Given the description of an element on the screen output the (x, y) to click on. 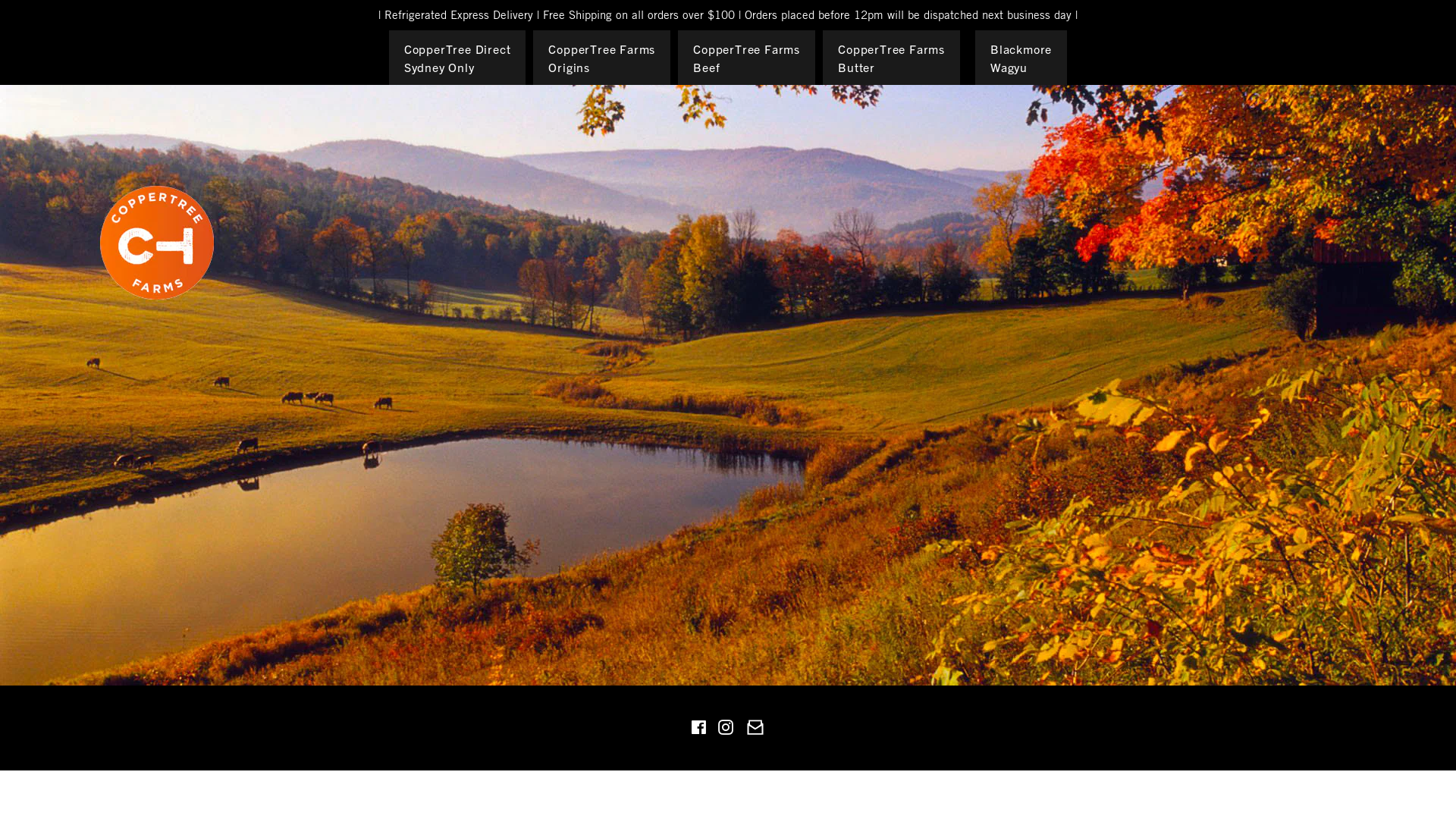
Blackmore
Wagyu Element type: text (1020, 57)
CopperTree Farms
Butter Element type: text (891, 57)
CopperTree Farms
Beef Element type: text (746, 57)
CopperTree Direct
Sydney Only Element type: text (457, 57)
Instagram Element type: text (724, 728)
Email Element type: text (754, 728)
CopperTree Farms
Origins Element type: text (601, 57)
Facebook Element type: text (698, 728)
